Given the description of an element on the screen output the (x, y) to click on. 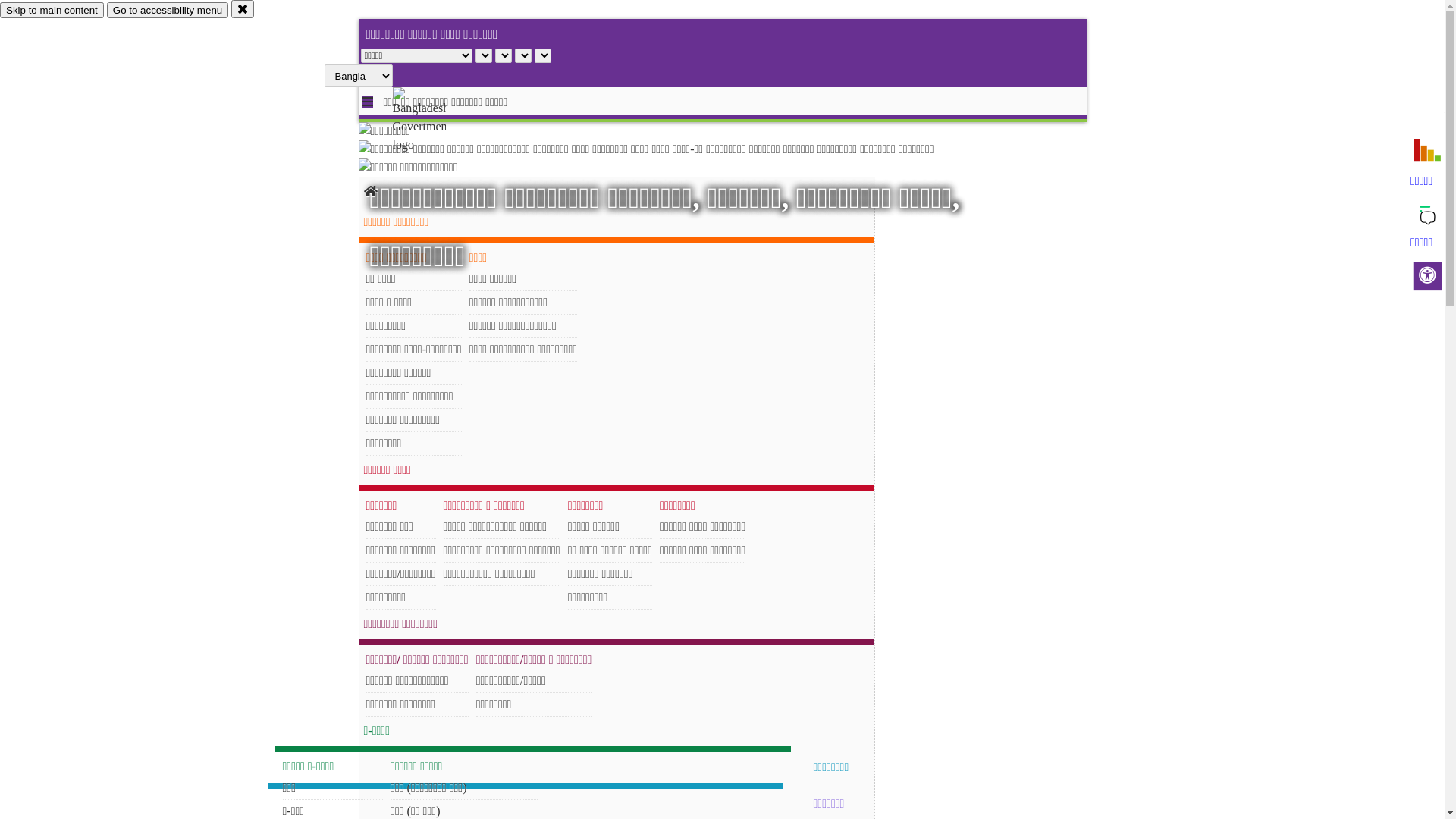
close Element type: hover (242, 9)
Go to accessibility menu Element type: text (167, 10)
Skip to main content Element type: text (51, 10)

                
             Element type: hover (431, 120)
